Given the description of an element on the screen output the (x, y) to click on. 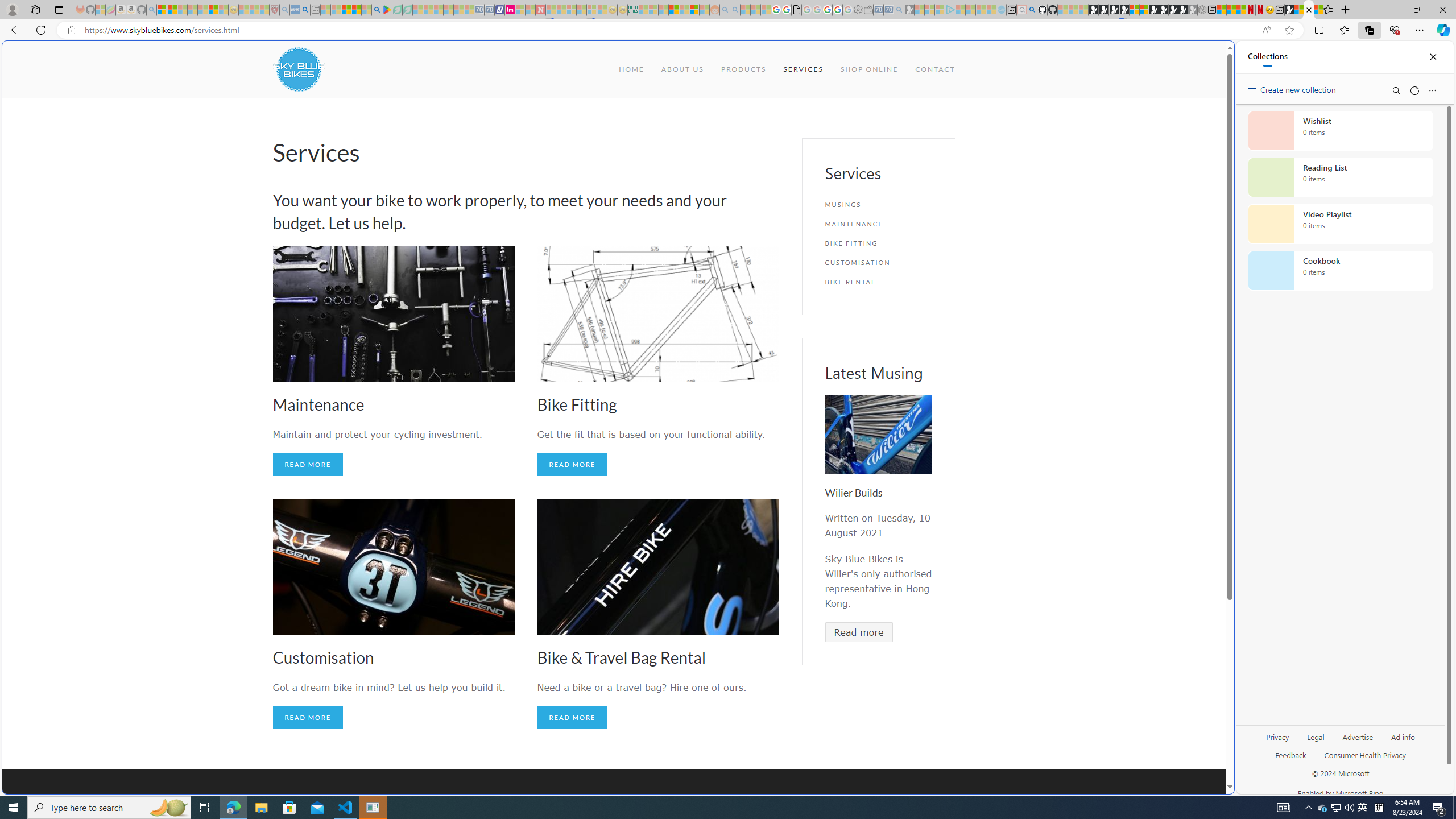
SHOP ONLINE (869, 68)
